Given the description of an element on the screen output the (x, y) to click on. 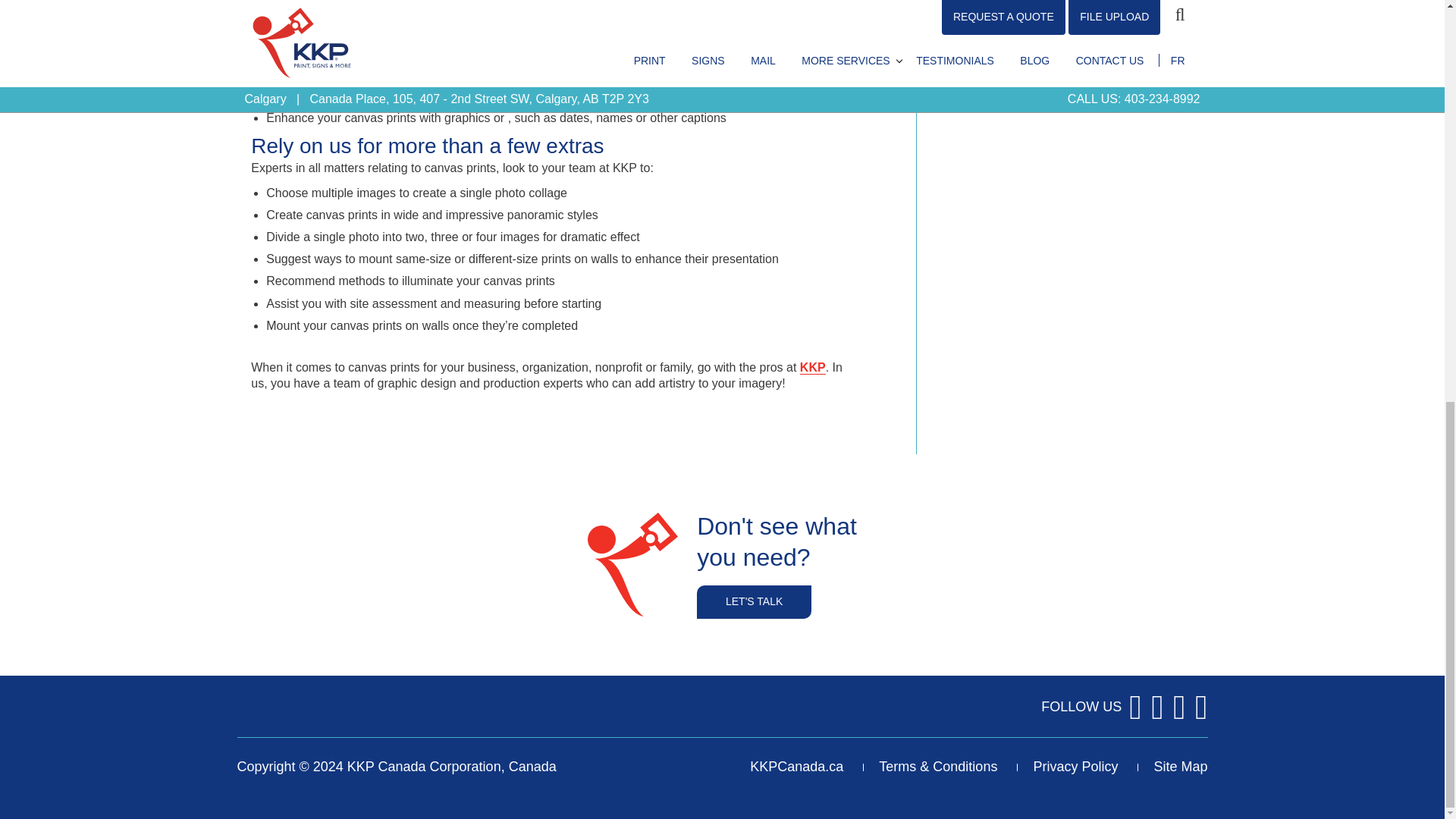
KKP (812, 367)
LET'S TALK (753, 602)
